Given the description of an element on the screen output the (x, y) to click on. 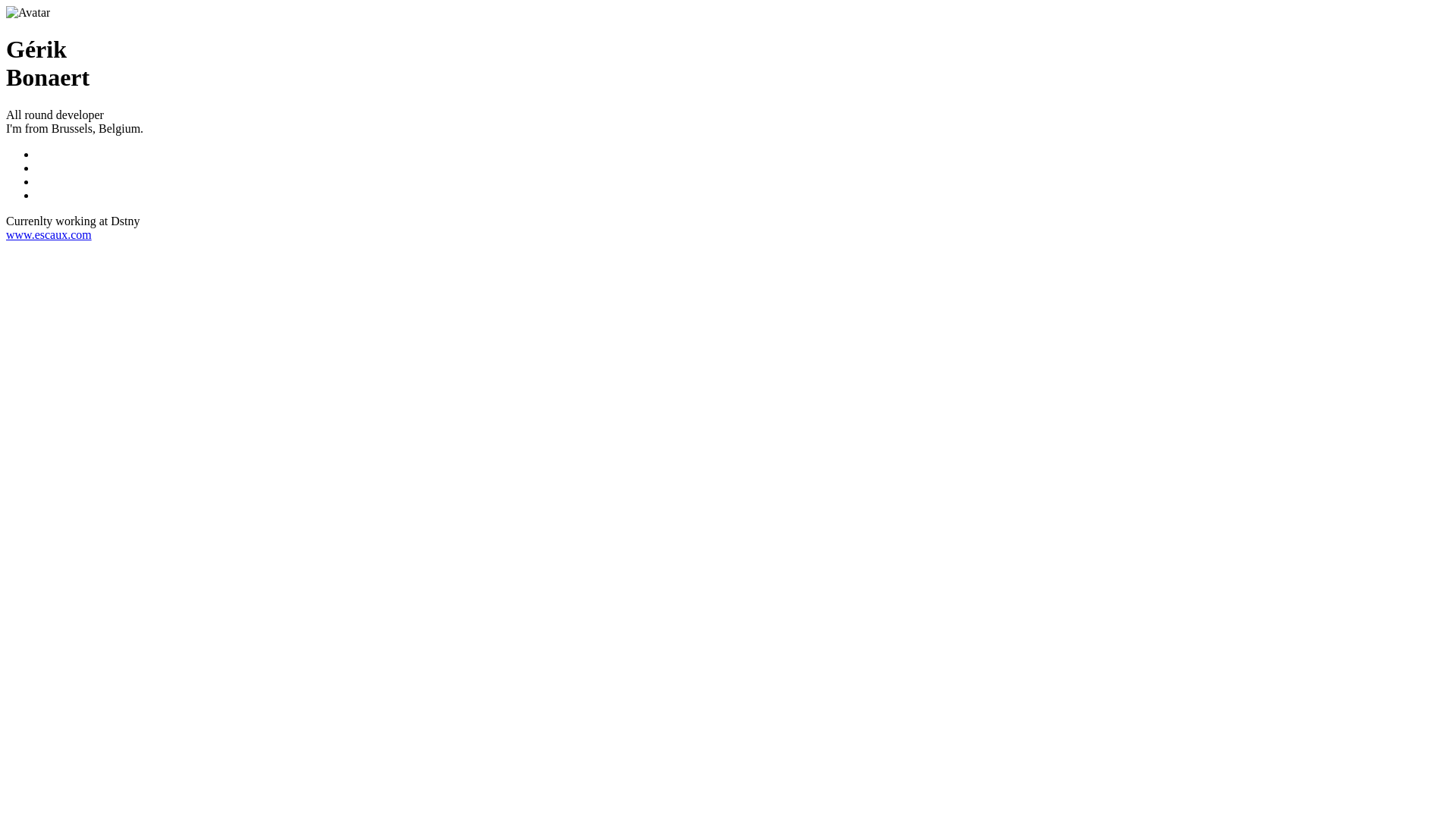
www.escaux.com Element type: text (48, 234)
